Given the description of an element on the screen output the (x, y) to click on. 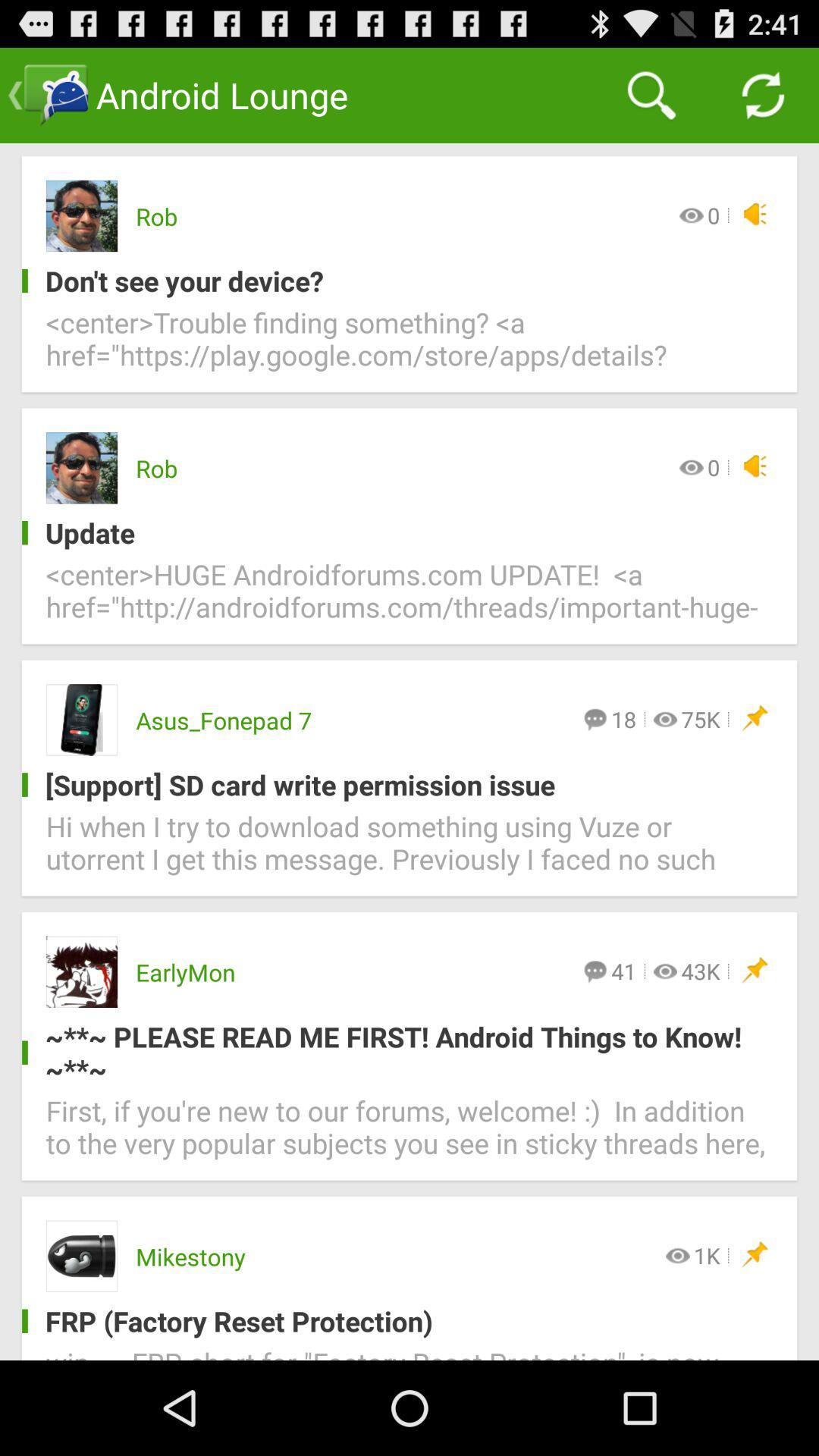
select the wip frp short (409, 1351)
